Given the description of an element on the screen output the (x, y) to click on. 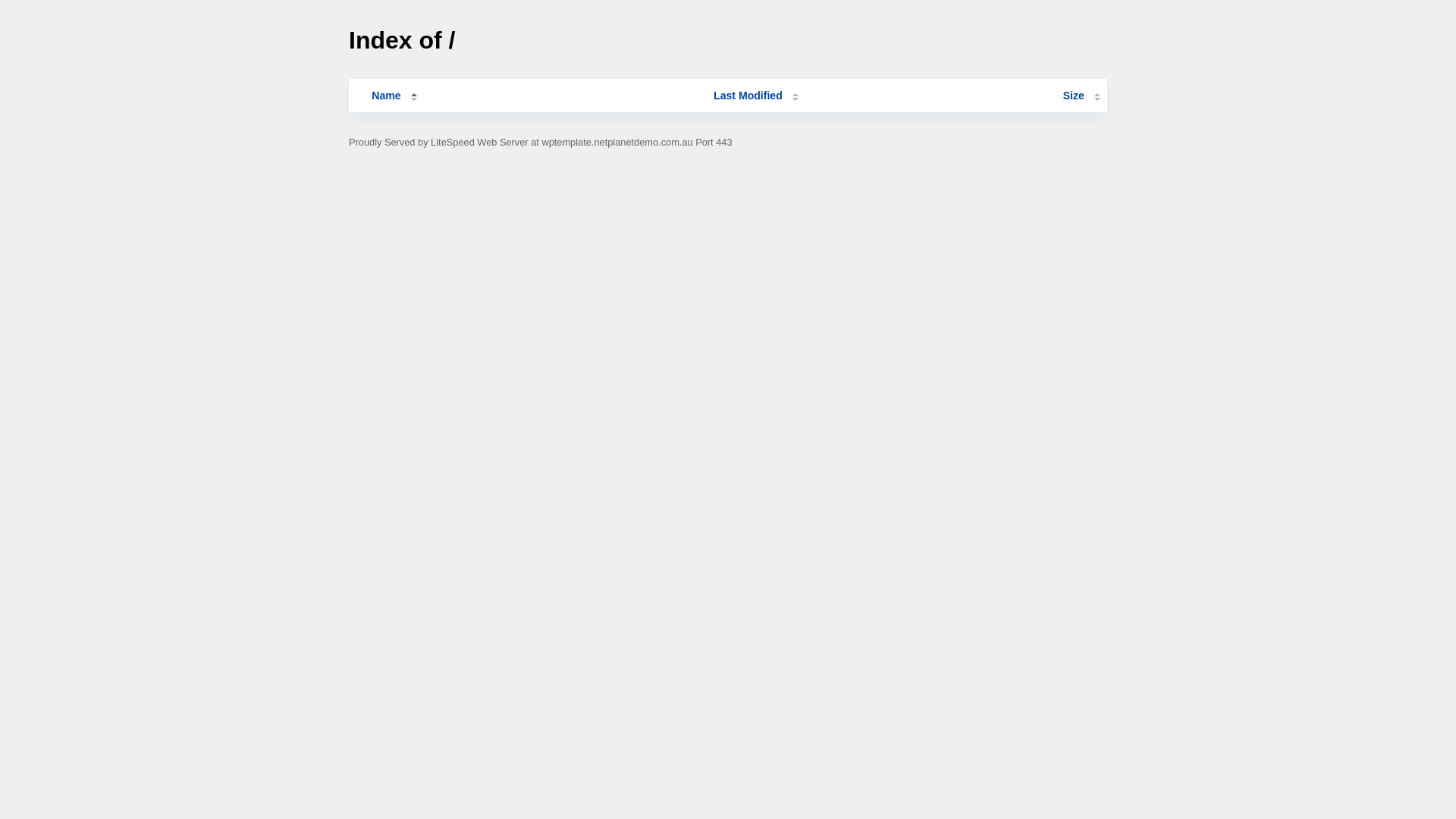
Name Element type: text (385, 95)
Size Element type: text (1081, 95)
Last Modified Element type: text (755, 95)
